Given the description of an element on the screen output the (x, y) to click on. 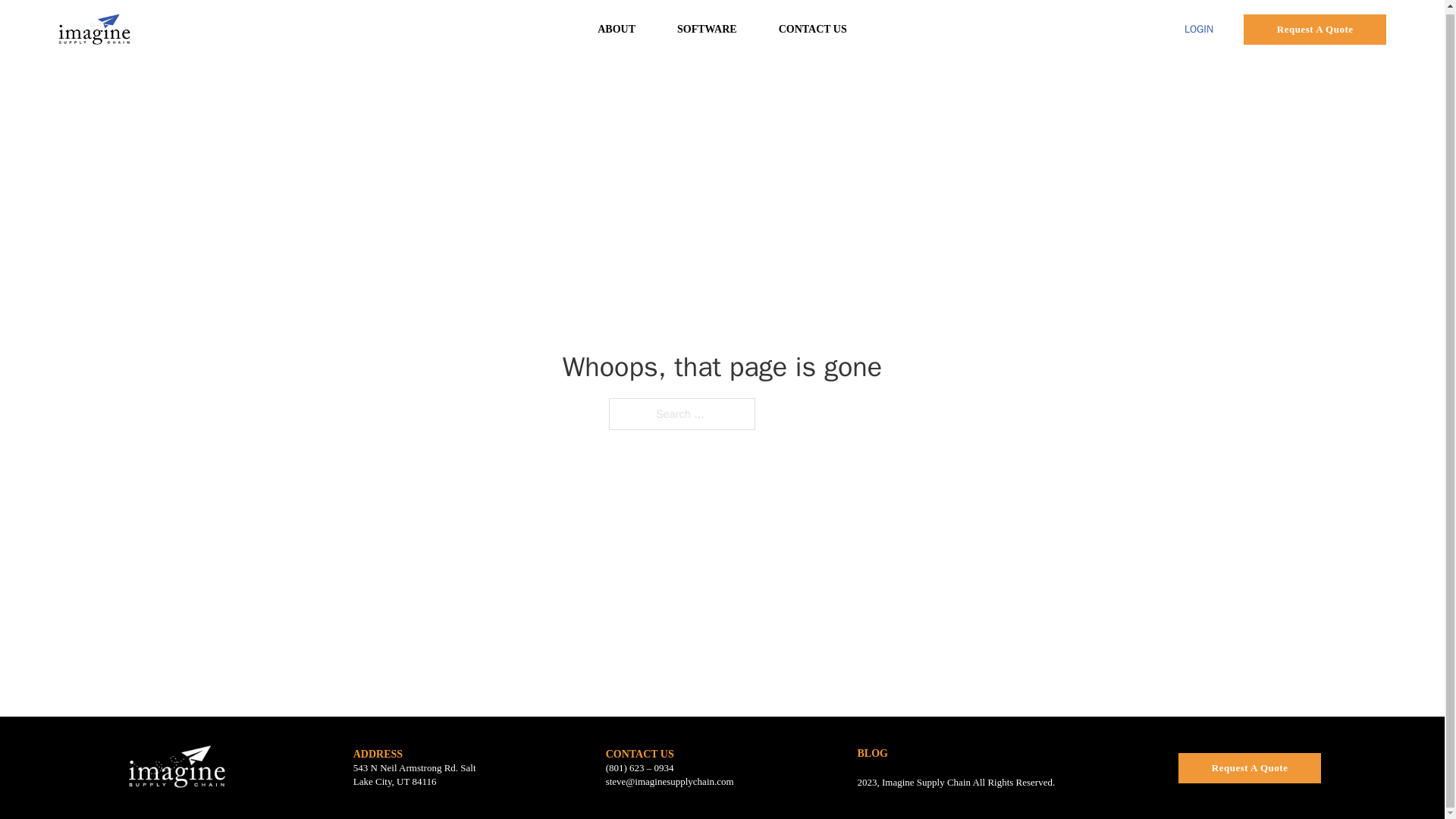
CONTACT US (639, 754)
CONTACT US (812, 29)
SOFTWARE (706, 29)
Request A Quote (1314, 28)
LOGIN (1198, 29)
BLOG (872, 753)
ABOUT (615, 29)
Request A Quote (1248, 767)
